Given the description of an element on the screen output the (x, y) to click on. 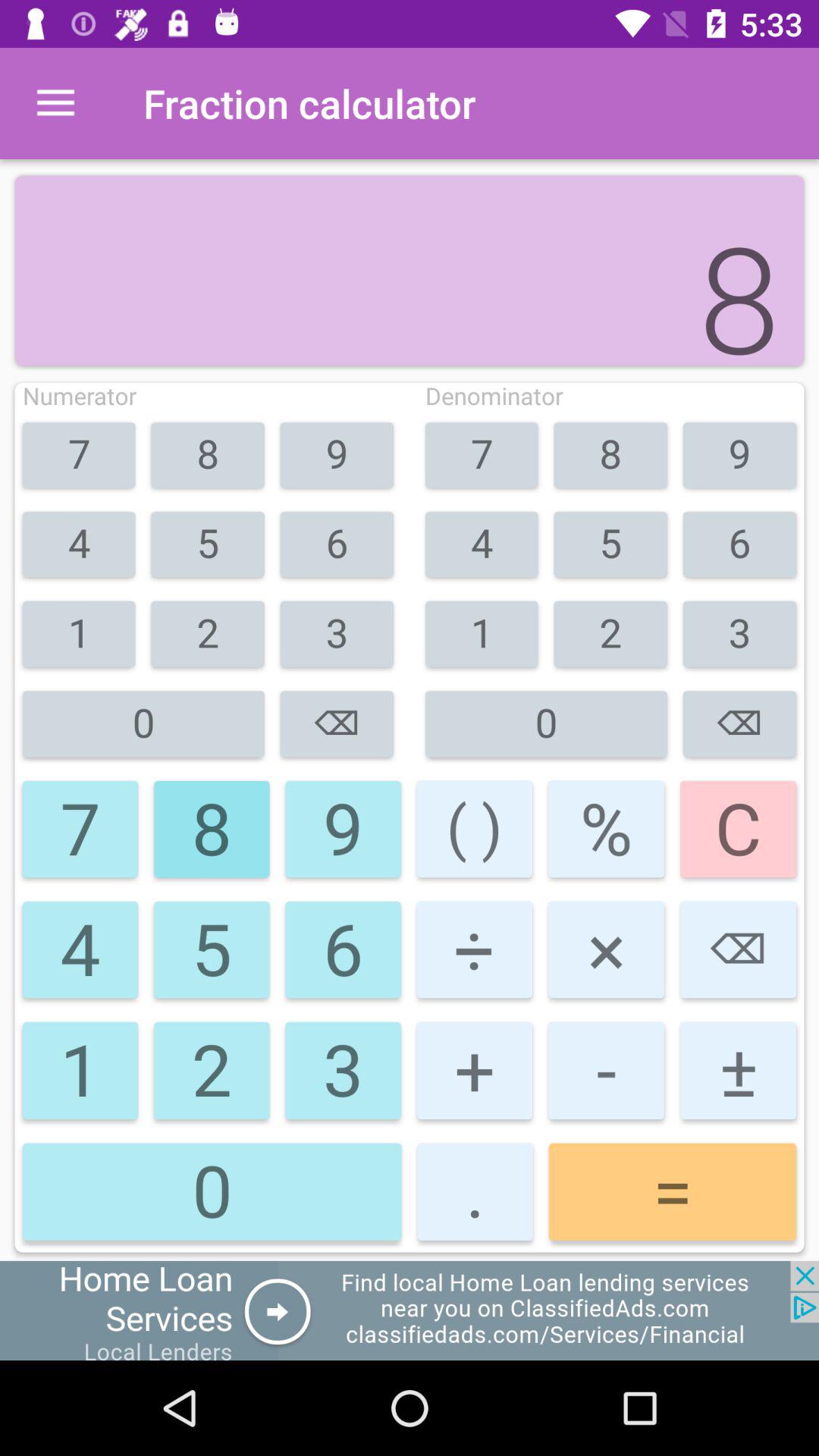
open advertisement (409, 1310)
